Given the description of an element on the screen output the (x, y) to click on. 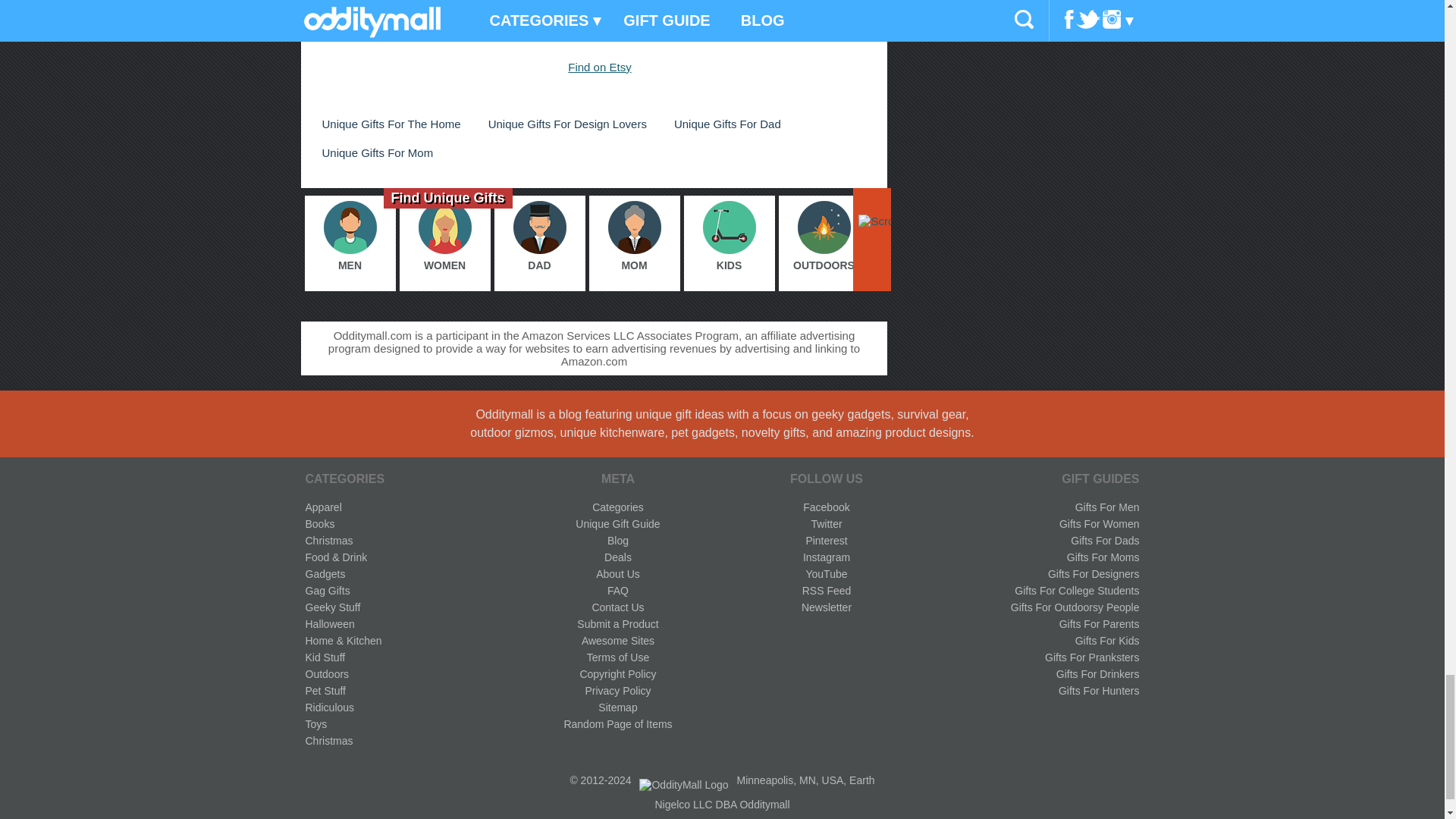
Find on Etsy (598, 66)
Unique Gifts For The Home (390, 123)
Unique Gifts For The Home (390, 123)
Unique Gifts For Design Lovers (566, 123)
Unique Gifts For Dad (727, 123)
Unique Gifts For Mom (377, 152)
Unique Gifts For Design Lovers (566, 123)
Unique Gifts For Dad (727, 123)
Check Today's Price (593, 11)
Unique Gifts For Mom (377, 152)
